Given the description of an element on the screen output the (x, y) to click on. 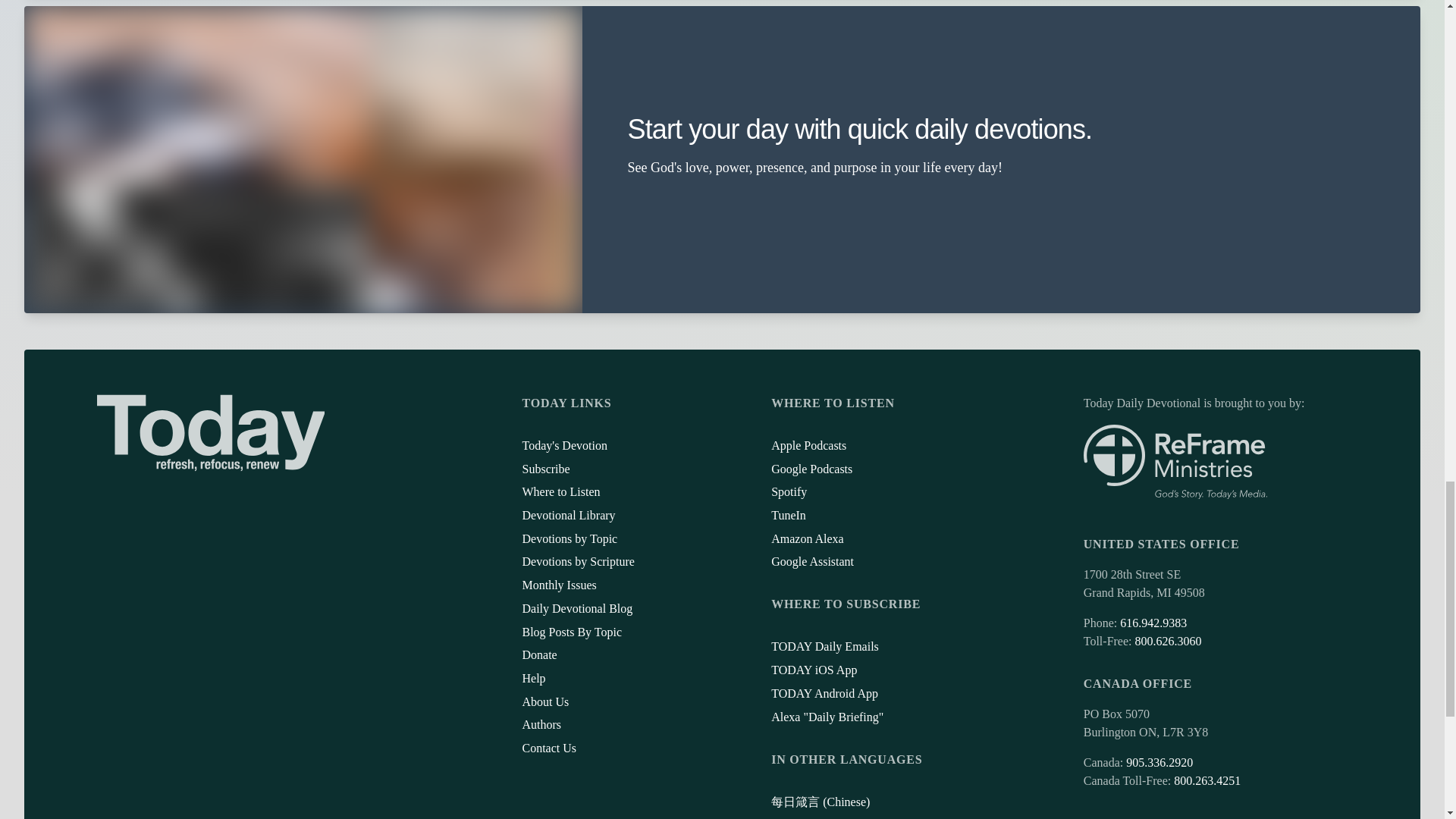
Where to Listen (560, 491)
Blog Posts By Topic (571, 631)
Subscribe (545, 468)
Devotions by Topic (569, 538)
Devotions by Scripture (577, 561)
Devotional Library (567, 514)
Help (532, 677)
Today Daily Devotional (210, 432)
About Us (545, 701)
Donate (538, 654)
ReFrame Ministries: God's story. Today's media. (1174, 462)
Today's Devotion (564, 445)
Monthly Issues (558, 584)
Daily Devotional Blog (576, 608)
